Given the description of an element on the screen output the (x, y) to click on. 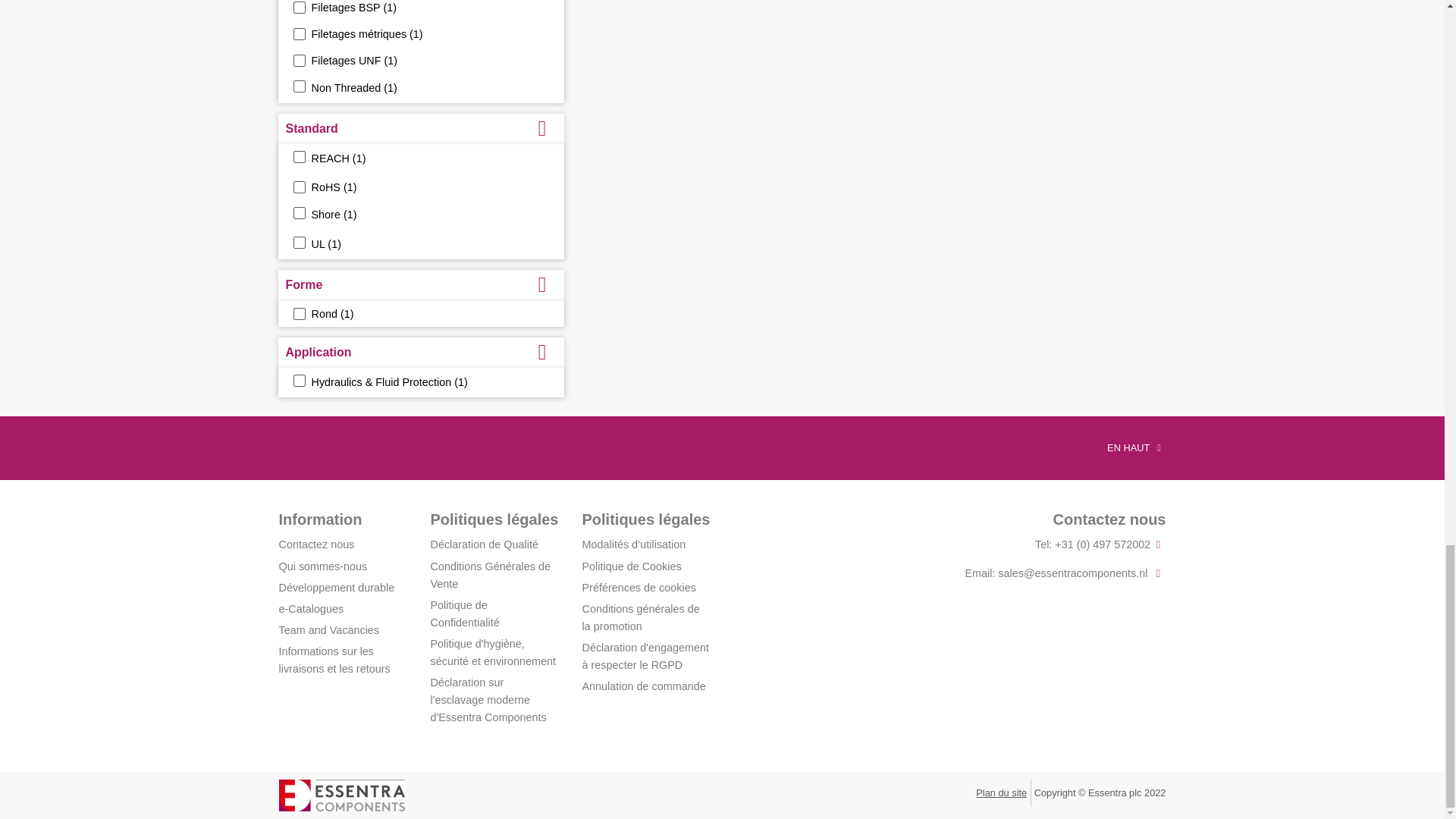
RoHS (298, 186)
Non Threaded (298, 86)
Filetages UNF (298, 60)
Filetages BSP (298, 7)
REACH (298, 156)
Shore (298, 213)
UL (298, 242)
